Given the description of an element on the screen output the (x, y) to click on. 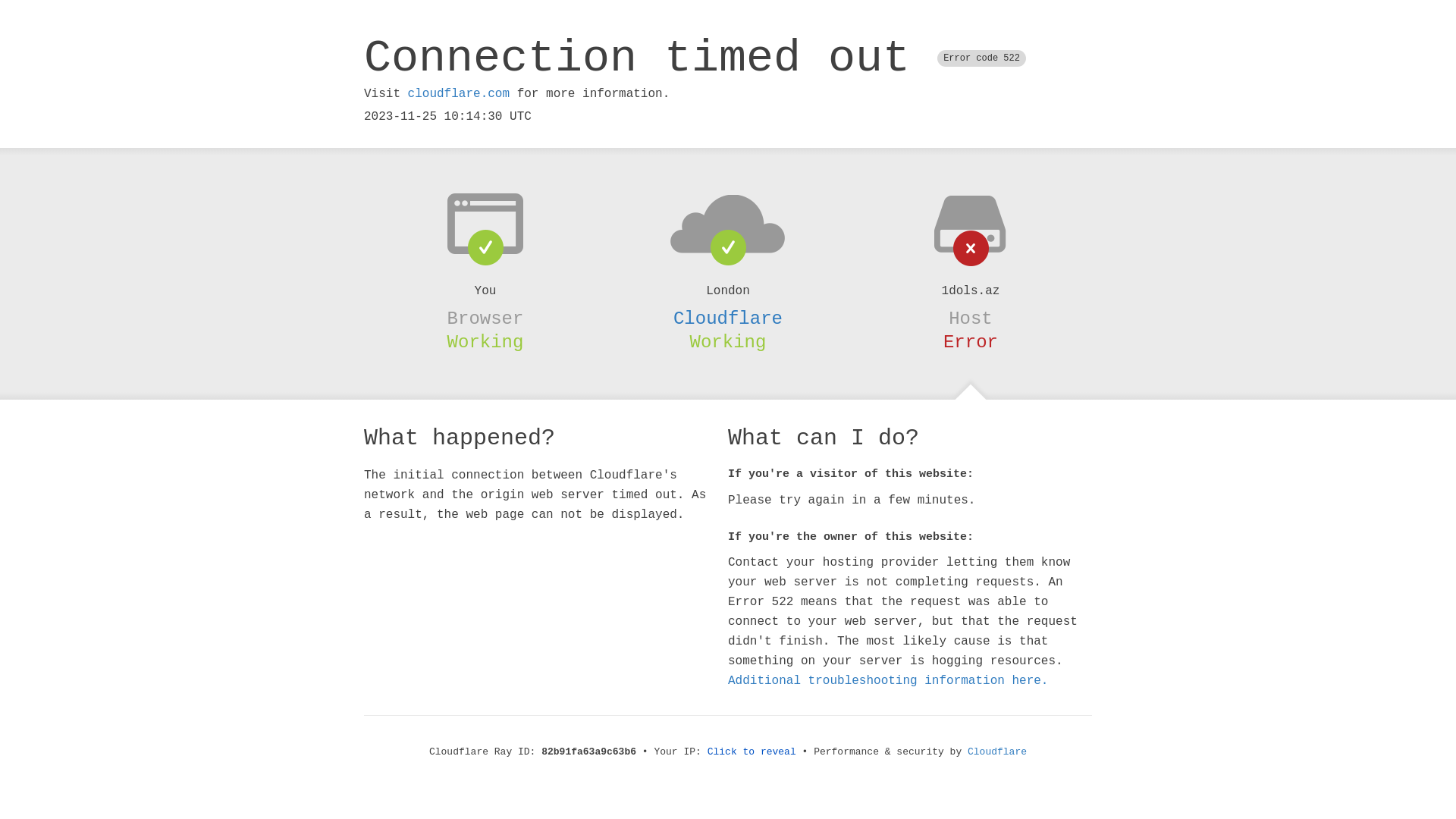
Click to reveal Element type: text (751, 751)
Cloudflare Element type: text (727, 318)
cloudflare.com Element type: text (458, 93)
Cloudflare Element type: text (996, 751)
Additional troubleshooting information here. Element type: text (888, 680)
